Given the description of an element on the screen output the (x, y) to click on. 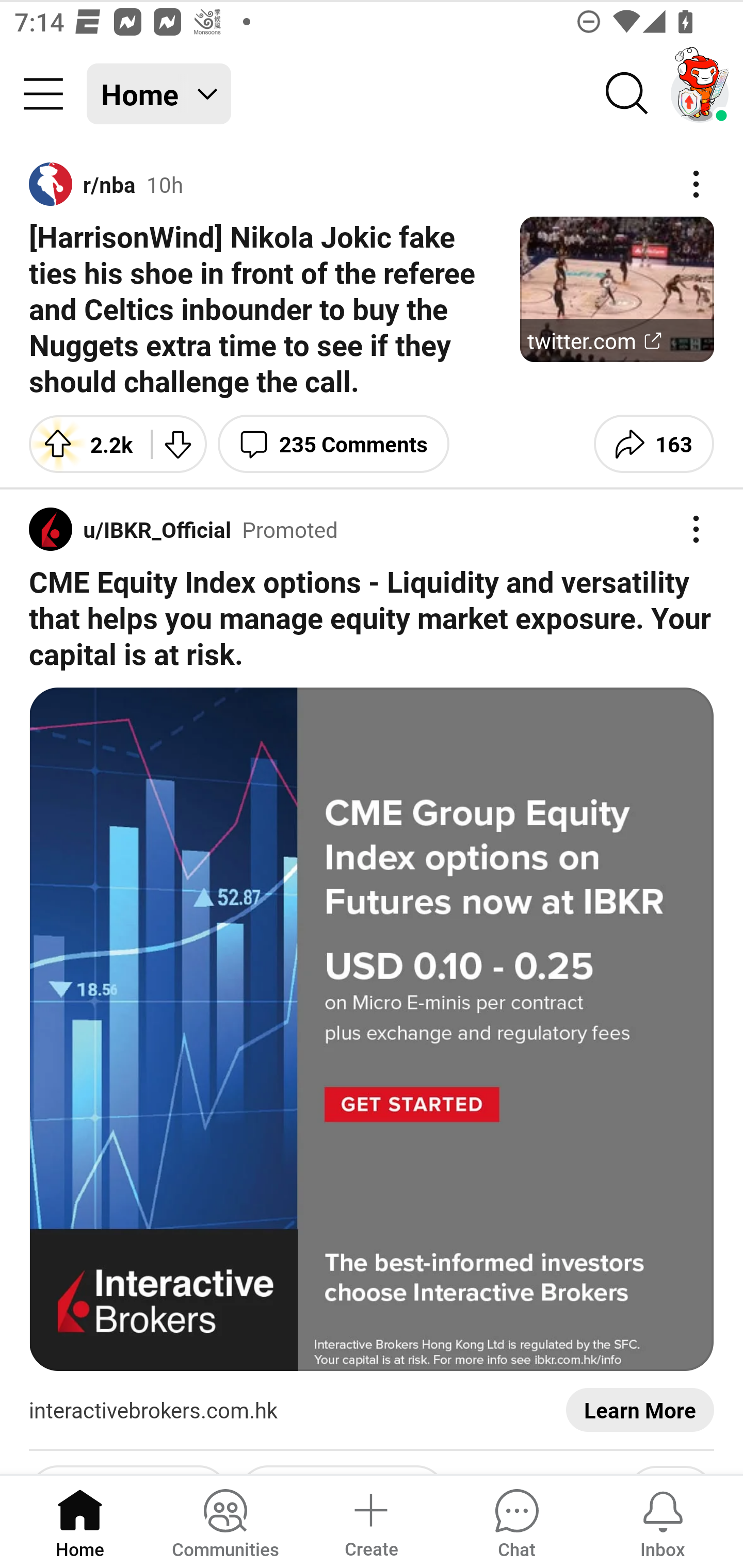
Community menu (43, 93)
Home Home feed (158, 93)
Search (626, 93)
TestAppium002 account (699, 93)
Home (80, 1520)
Communities (225, 1520)
Create a post Create (370, 1520)
Chat (516, 1520)
Inbox (662, 1520)
